Given the description of an element on the screen output the (x, y) to click on. 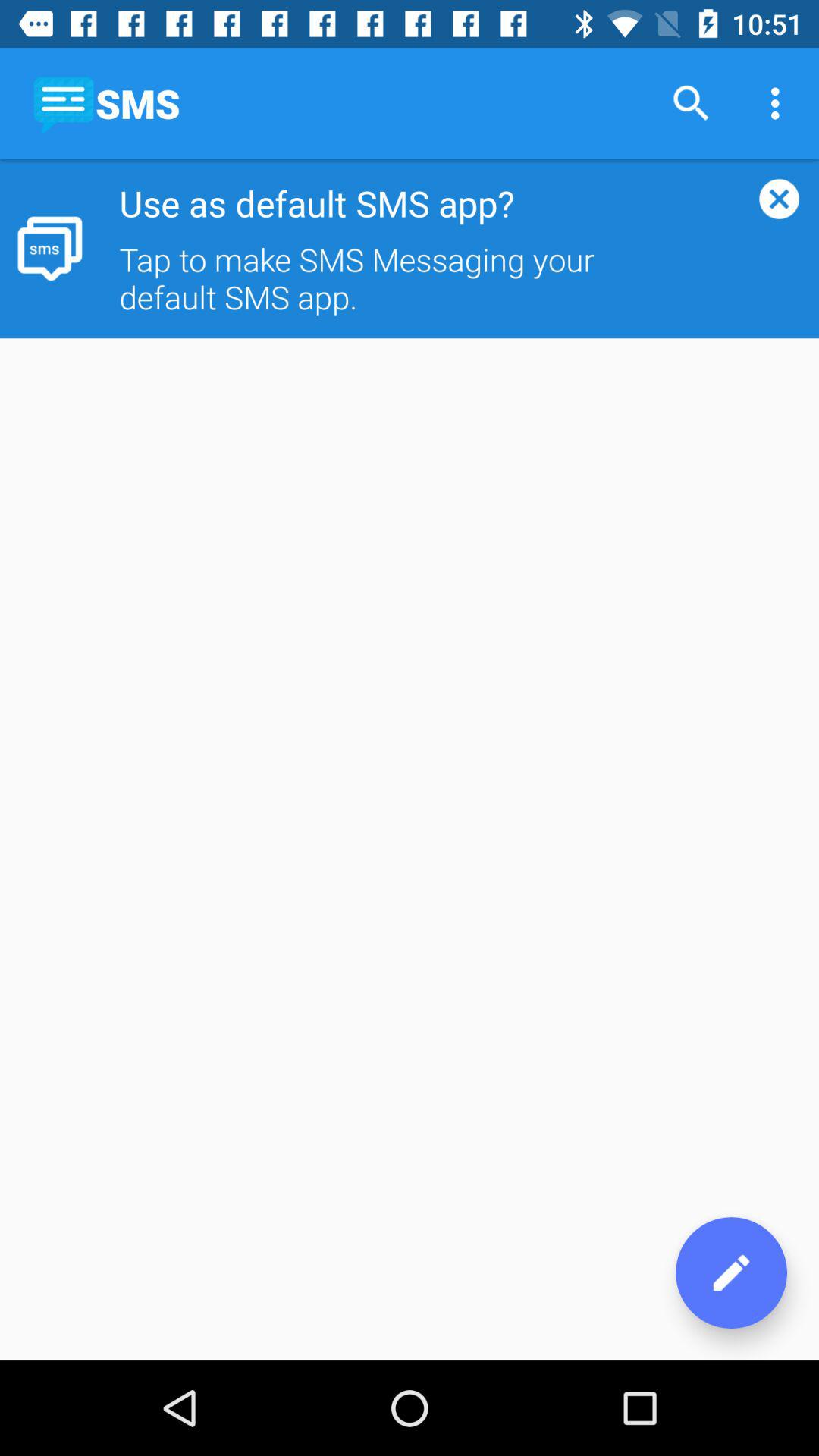
select icon below the tap to make icon (731, 1272)
